Given the description of an element on the screen output the (x, y) to click on. 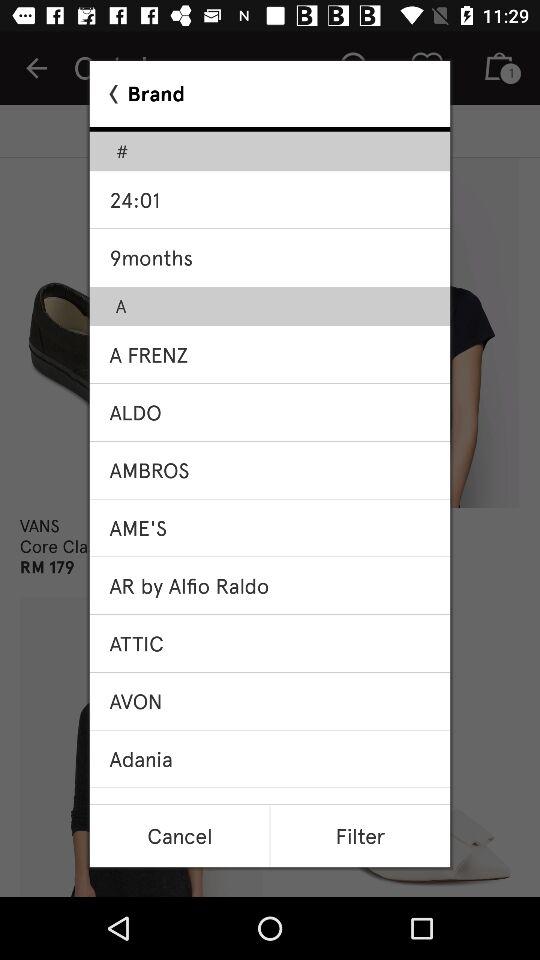
tap cancel (179, 836)
